Given the description of an element on the screen output the (x, y) to click on. 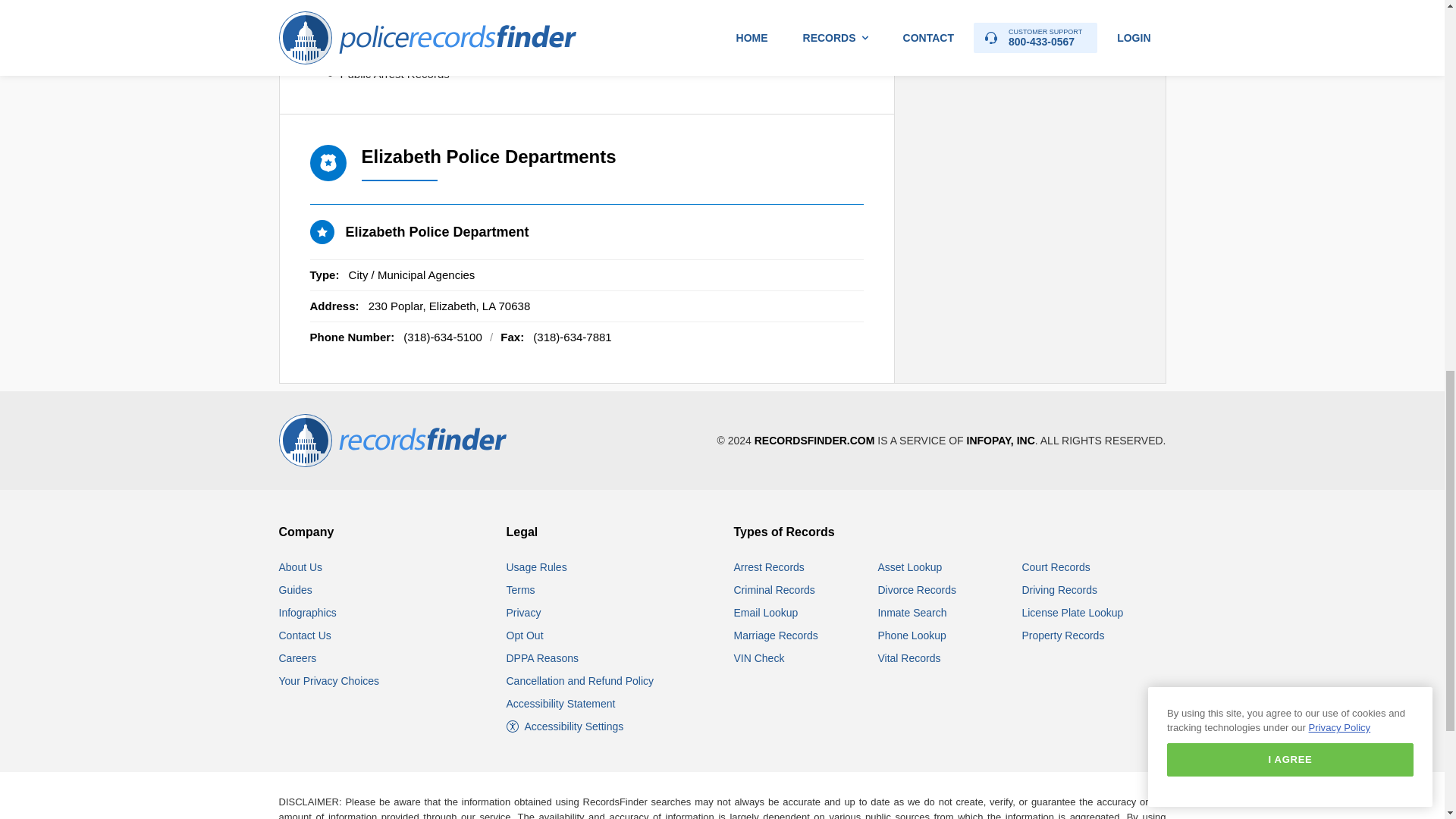
RecordsFinder.com DPPA Reasons (542, 657)
RecordsFinder.com Opt Out Instructions (524, 635)
RecordsFinder.com Terms and Conditions (520, 589)
RecordsFinder.com Privacy Policy (523, 612)
RecordsFinder.com Cancellation and Refund Policy (579, 680)
Guides and How tos (296, 589)
RecordsFinder.com Accessibility Statement (560, 703)
Contact RecordsFinder.com (305, 635)
About RecordsFinder.com (301, 567)
View Public Records Infographics and Statistics (307, 612)
Careers at RecordsFinder.com (298, 657)
RecordsFinder.com Usage Rules (536, 567)
Your Privacy Choices (329, 680)
